Given the description of an element on the screen output the (x, y) to click on. 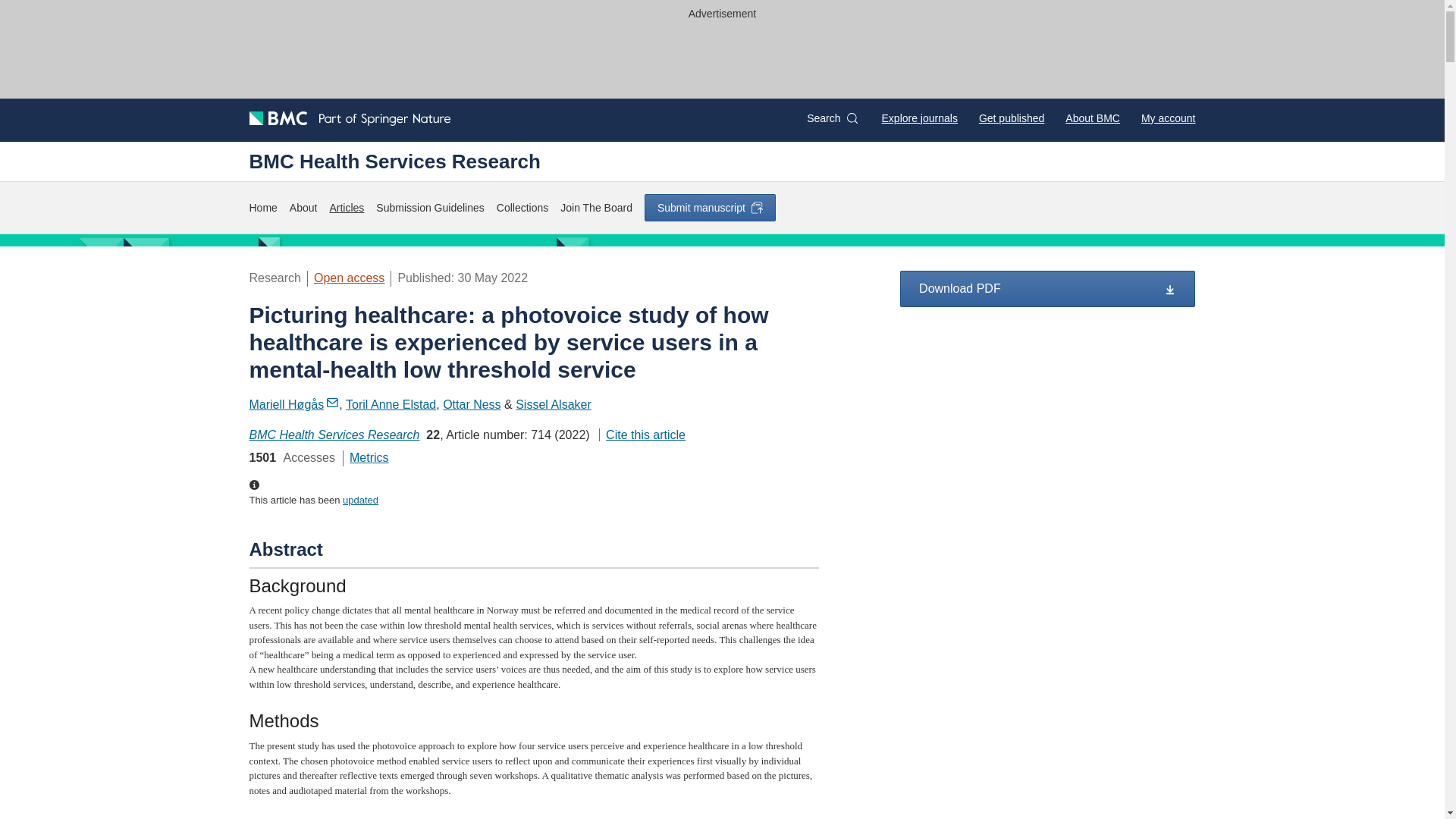
About BMC (1092, 118)
My account (1168, 118)
Collections (522, 208)
Cite this article (641, 434)
BMC Health Services Research (394, 160)
Search (831, 118)
Open access (349, 277)
Home (262, 208)
Toril Anne Elstad (390, 404)
About (303, 208)
Ottar Ness (471, 404)
Submit manuscript (710, 207)
Get published (1010, 118)
BMC Health Services Research (333, 434)
Submission Guidelines (429, 208)
